Given the description of an element on the screen output the (x, y) to click on. 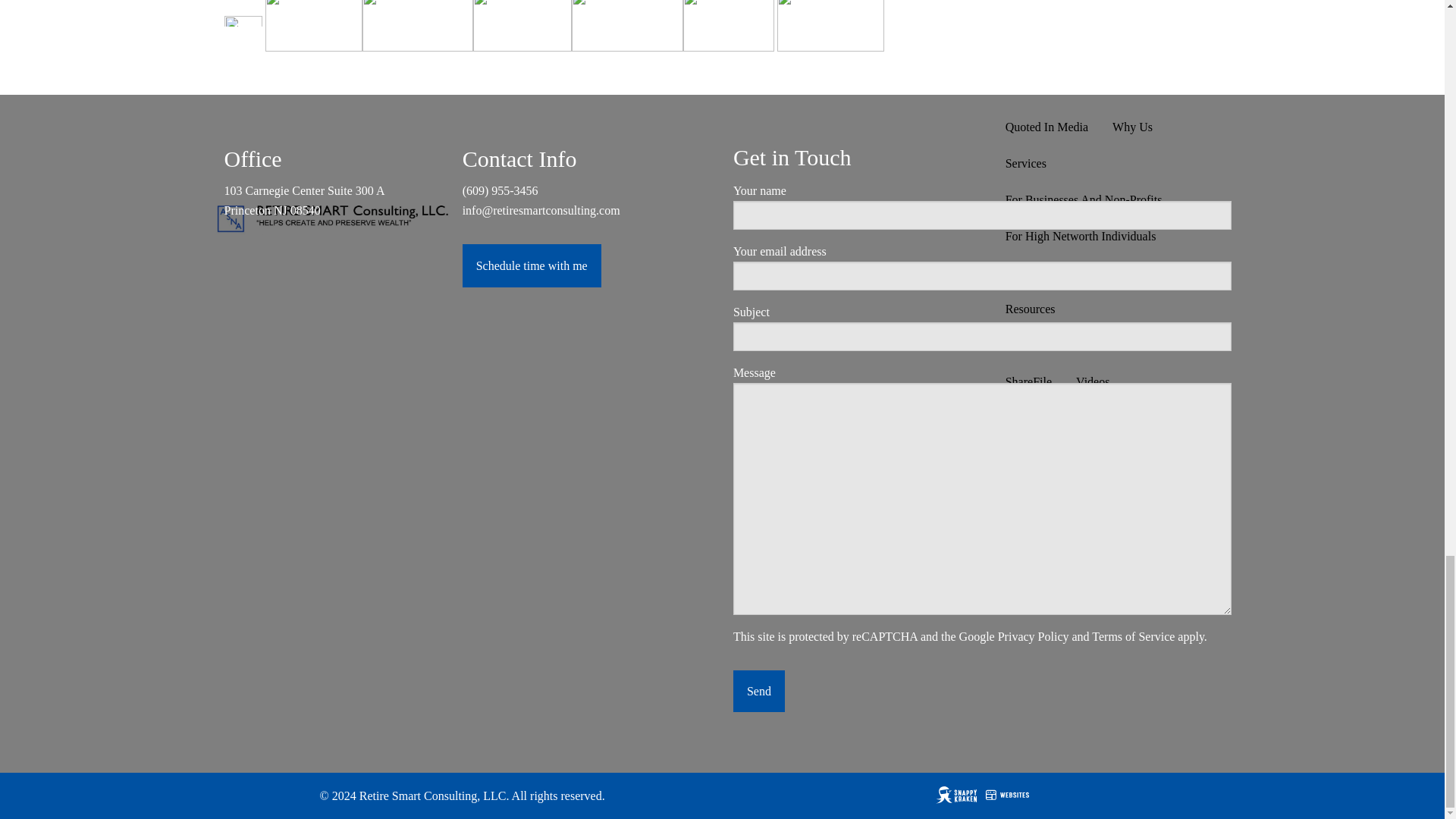
Send (758, 690)
Send (758, 690)
Privacy Policy (1032, 635)
Terms of Service (1133, 635)
Schedule time with me (532, 265)
